Given the description of an element on the screen output the (x, y) to click on. 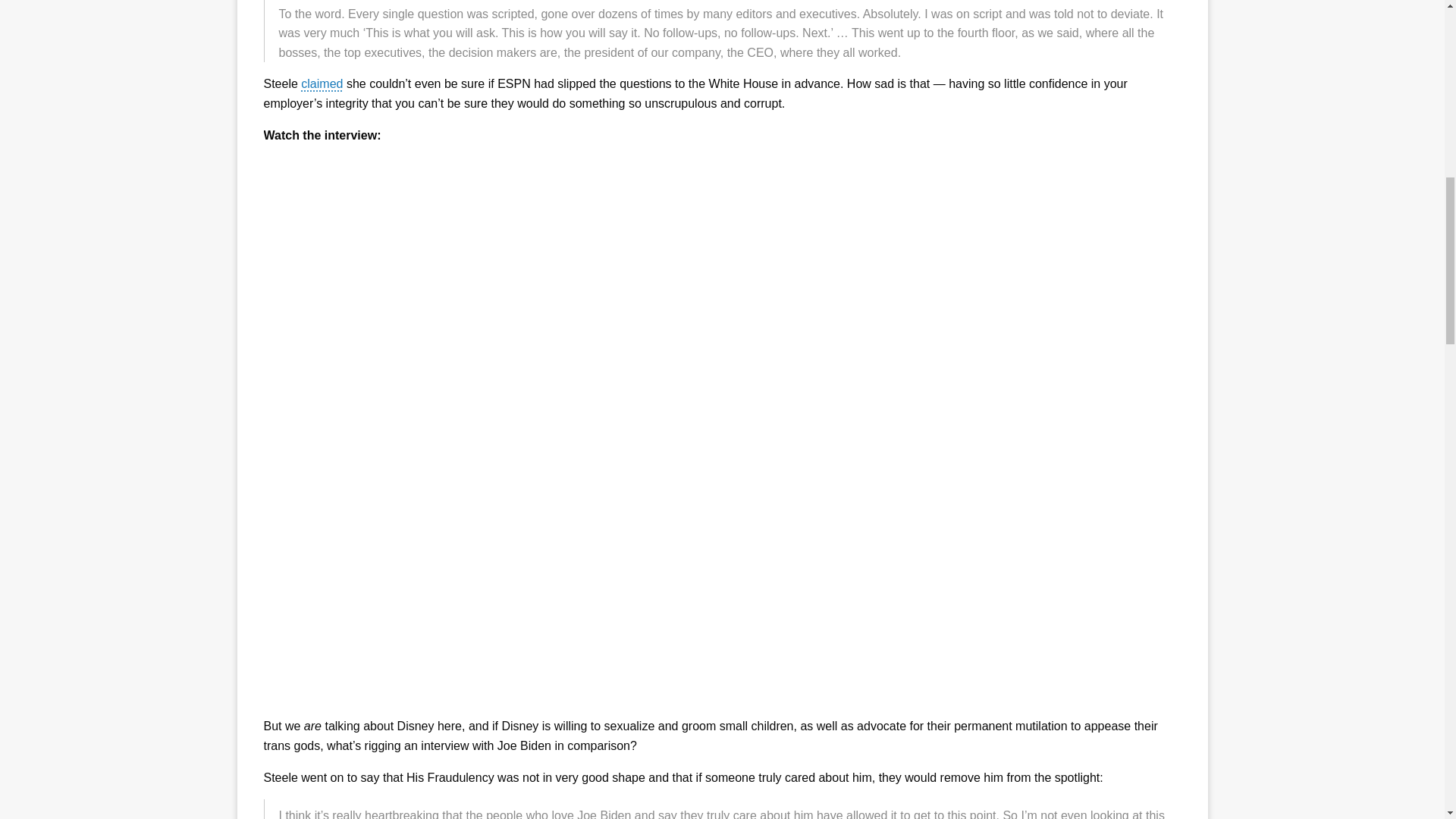
claimed (321, 83)
